Given the description of an element on the screen output the (x, y) to click on. 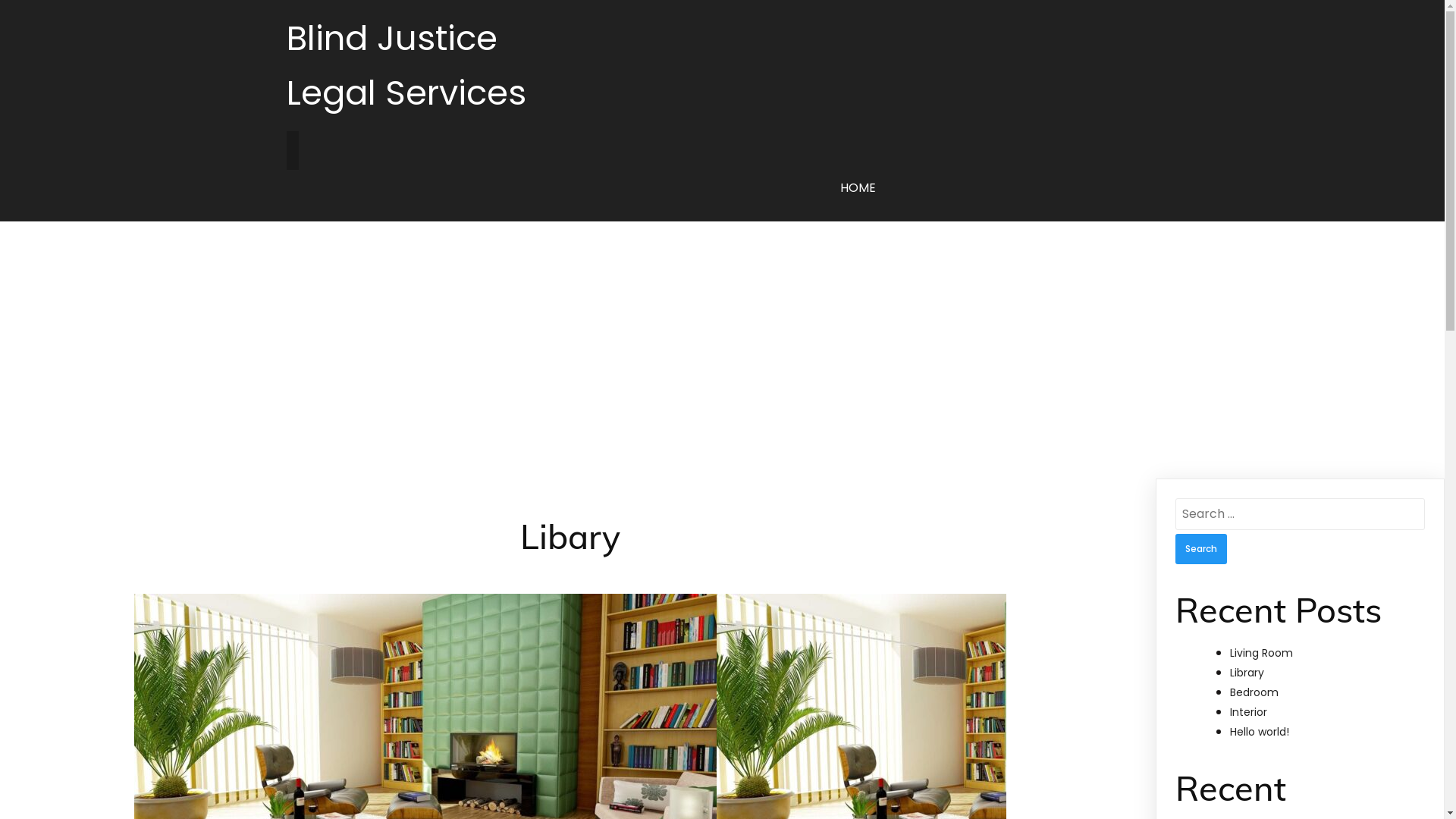
Blind Justice Legal Services Element type: text (411, 65)
Search Element type: text (1200, 548)
Library Element type: text (1247, 672)
Interior Element type: text (1248, 711)
Bedroom Element type: text (1254, 691)
Living Room Element type: text (1261, 652)
HOME Element type: text (857, 187)
Hello world! Element type: text (1259, 731)
